Given the description of an element on the screen output the (x, y) to click on. 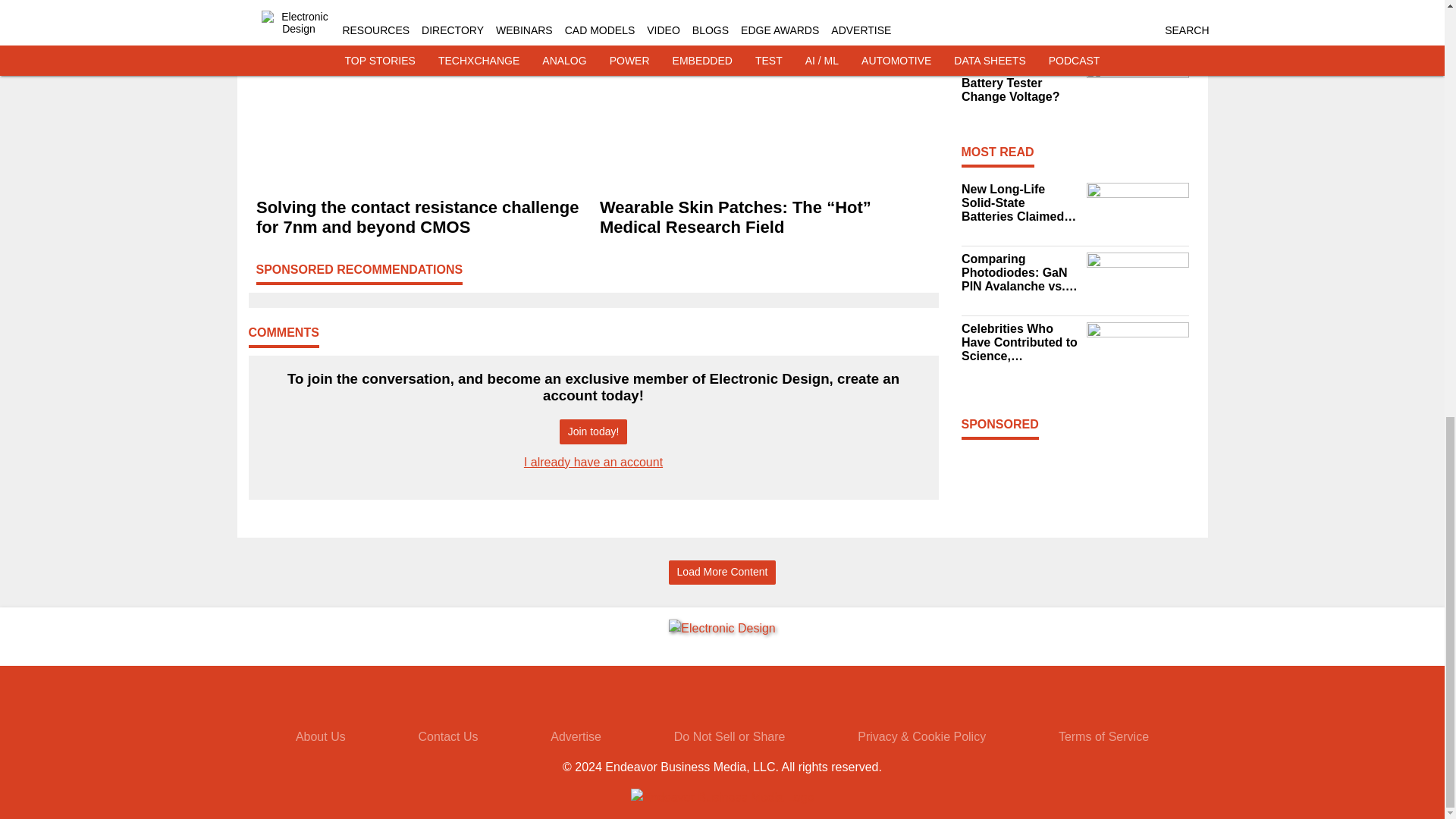
I already have an account (593, 461)
Join today! (593, 431)
